Given the description of an element on the screen output the (x, y) to click on. 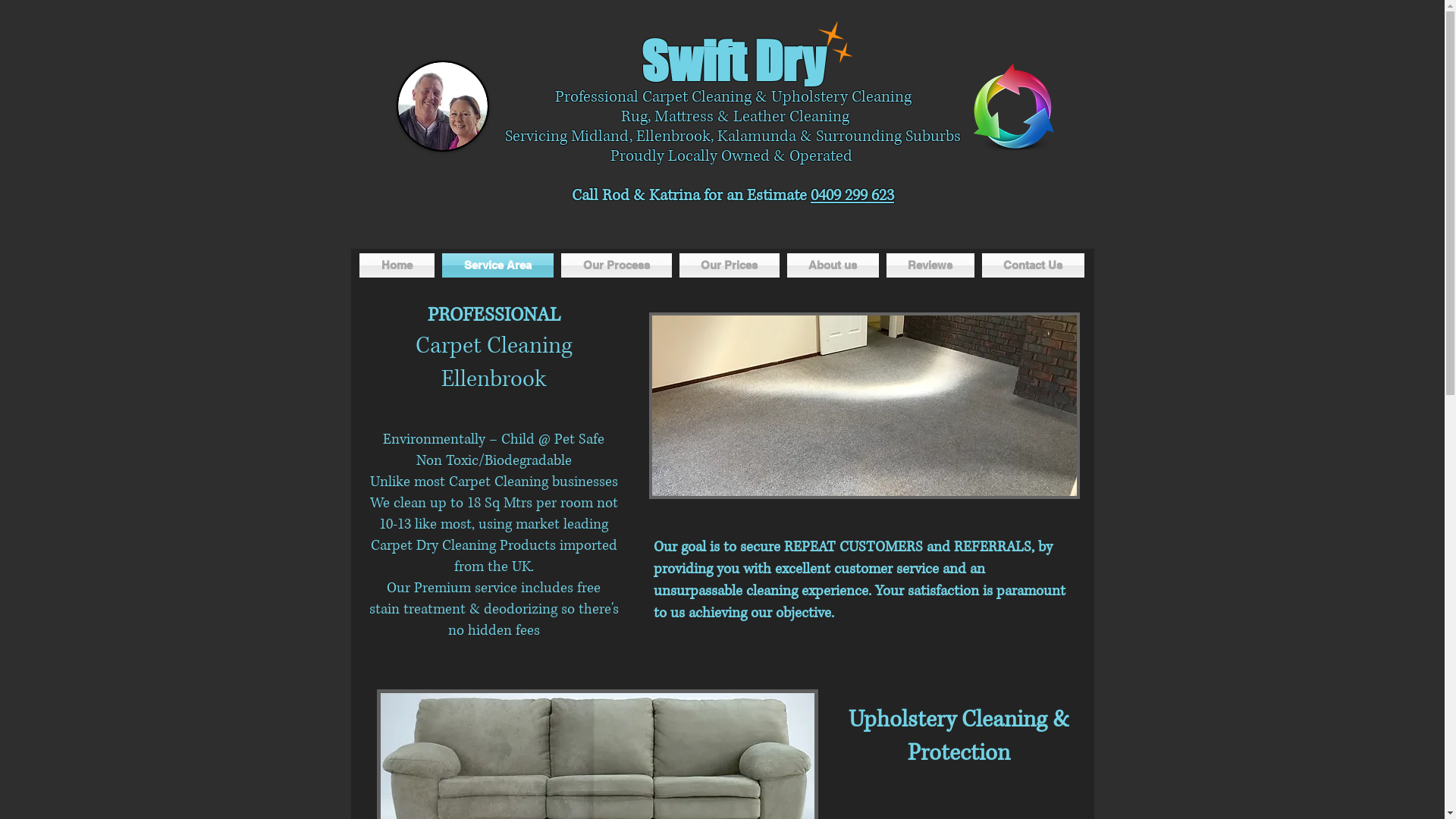
Upholstery Cleaning & Protection Element type: text (957, 736)
Reviews Element type: text (930, 265)
Carpet Cleaning Element type: text (493, 345)
Service Area Element type: text (497, 265)
0409 299 623 Element type: text (852, 195)
Contact Us Element type: text (1031, 265)
Facebook Like Element type: hover (836, 231)
Our Process Element type: text (615, 265)
Home Element type: text (398, 265)
About us Element type: text (831, 265)
Our Prices Element type: text (728, 265)
Twitter Tweet Element type: hover (712, 224)
